Given the description of an element on the screen output the (x, y) to click on. 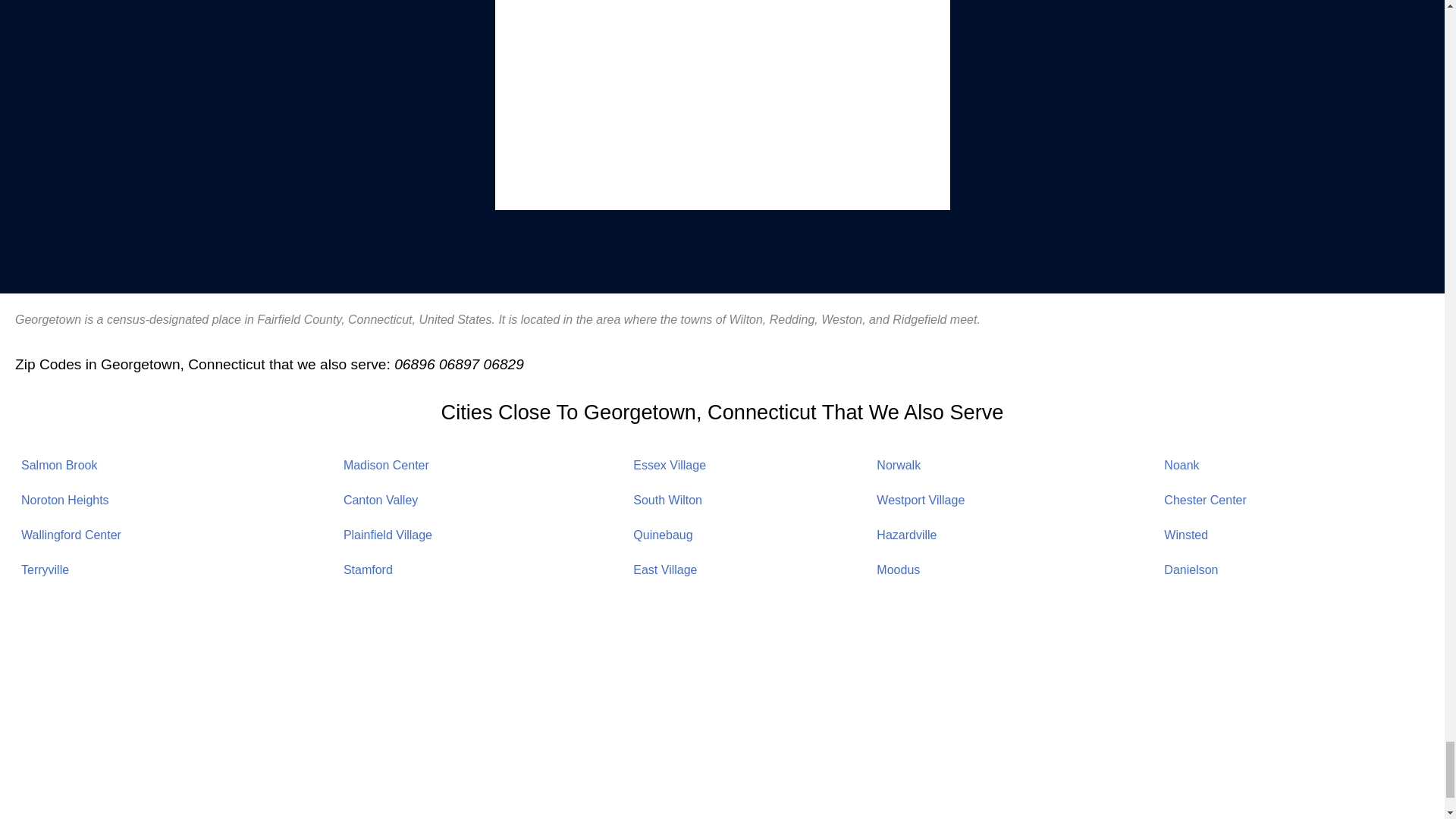
Salmon Brook (59, 464)
Noroton Heights (65, 499)
Norwalk (898, 464)
South Wilton (667, 499)
Madison Center (386, 464)
Canton Valley (380, 499)
Noank (1180, 464)
Essex Village (669, 464)
